Given the description of an element on the screen output the (x, y) to click on. 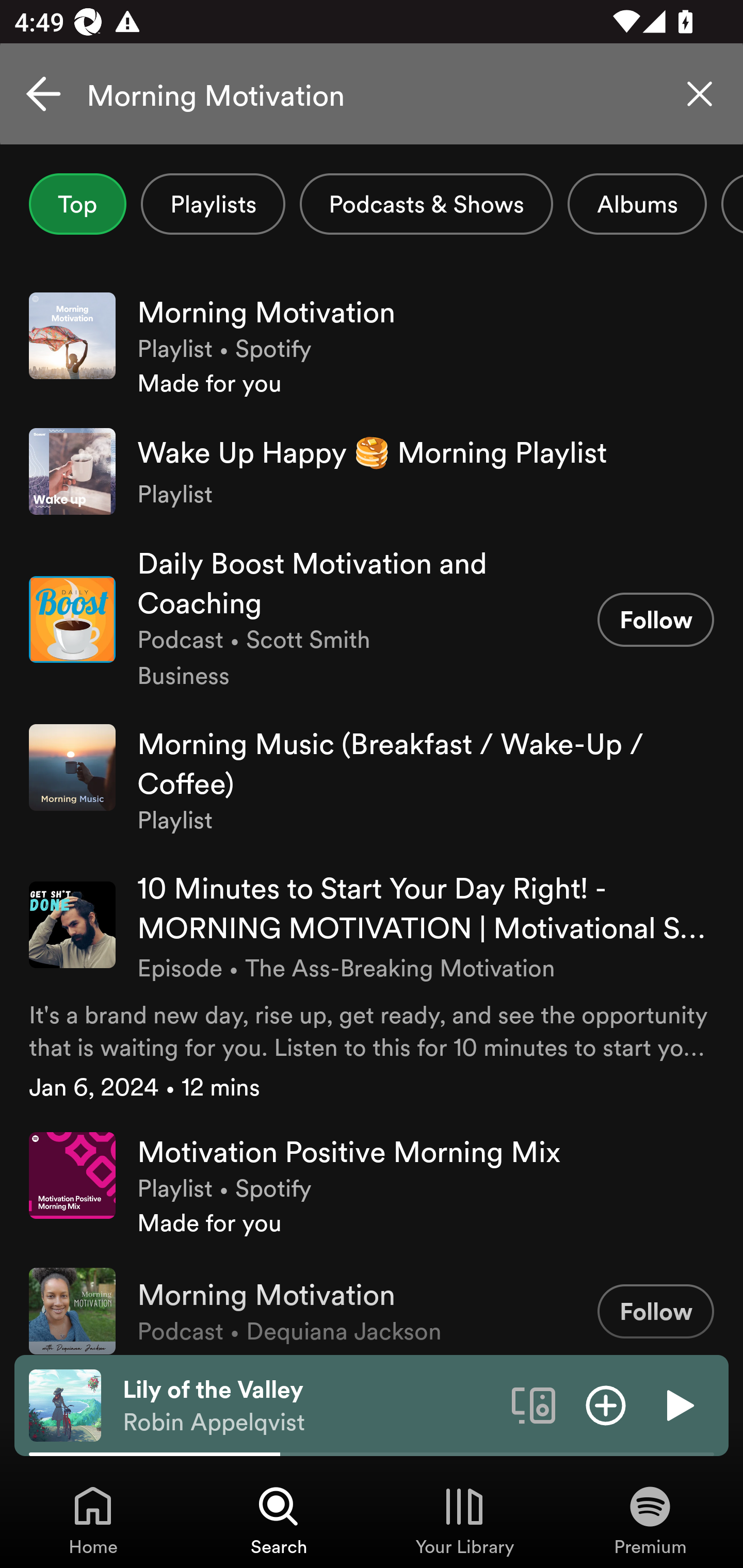
Morning Motivation (371, 93)
Cancel (43, 93)
Clear search query (699, 93)
Top (77, 203)
Playlists (213, 203)
Podcasts & Shows (425, 203)
Albums (636, 203)
Morning Motivation Playlist • Spotify Made for you (371, 345)
Wake Up Happy 🥞 Morning Playlist Playlist (371, 471)
Follow (655, 619)
Follow (655, 1311)
Lily of the Valley Robin Appelqvist (309, 1405)
The cover art of the currently playing track (64, 1404)
Connect to a device. Opens the devices menu (533, 1404)
Add item (605, 1404)
Play (677, 1404)
Home, Tab 1 of 4 Home Home (92, 1519)
Search, Tab 2 of 4 Search Search (278, 1519)
Your Library, Tab 3 of 4 Your Library Your Library (464, 1519)
Premium, Tab 4 of 4 Premium Premium (650, 1519)
